Given the description of an element on the screen output the (x, y) to click on. 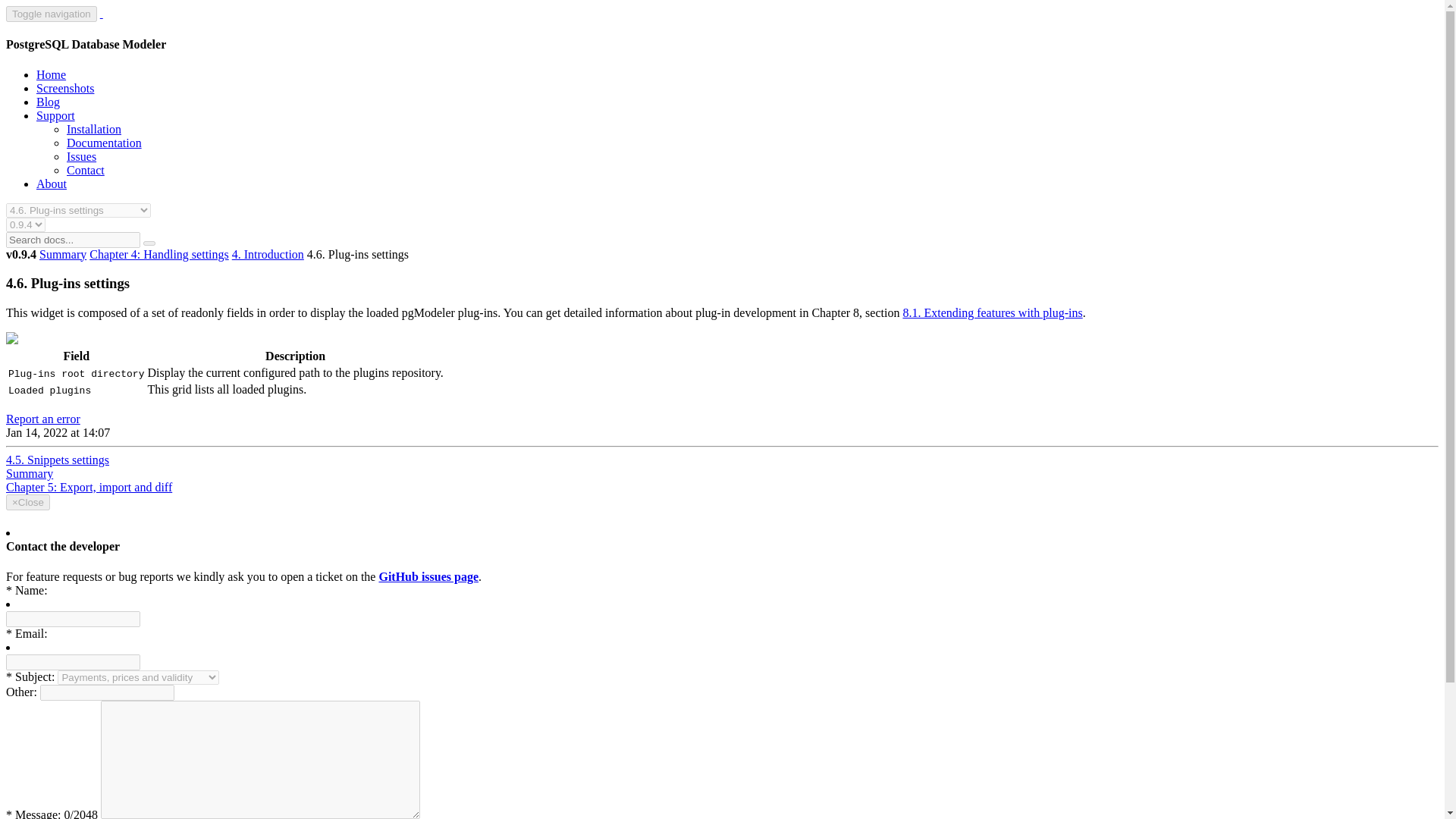
Chapter 4: Handling settings (158, 254)
Installation (93, 128)
Home (50, 74)
Support (55, 115)
Screenshots (65, 88)
Contact (85, 169)
Blog (47, 101)
Chapter 5: Export, import and diff (88, 486)
GitHub issues page (428, 576)
4.5. Snippets settings (57, 459)
